Given the description of an element on the screen output the (x, y) to click on. 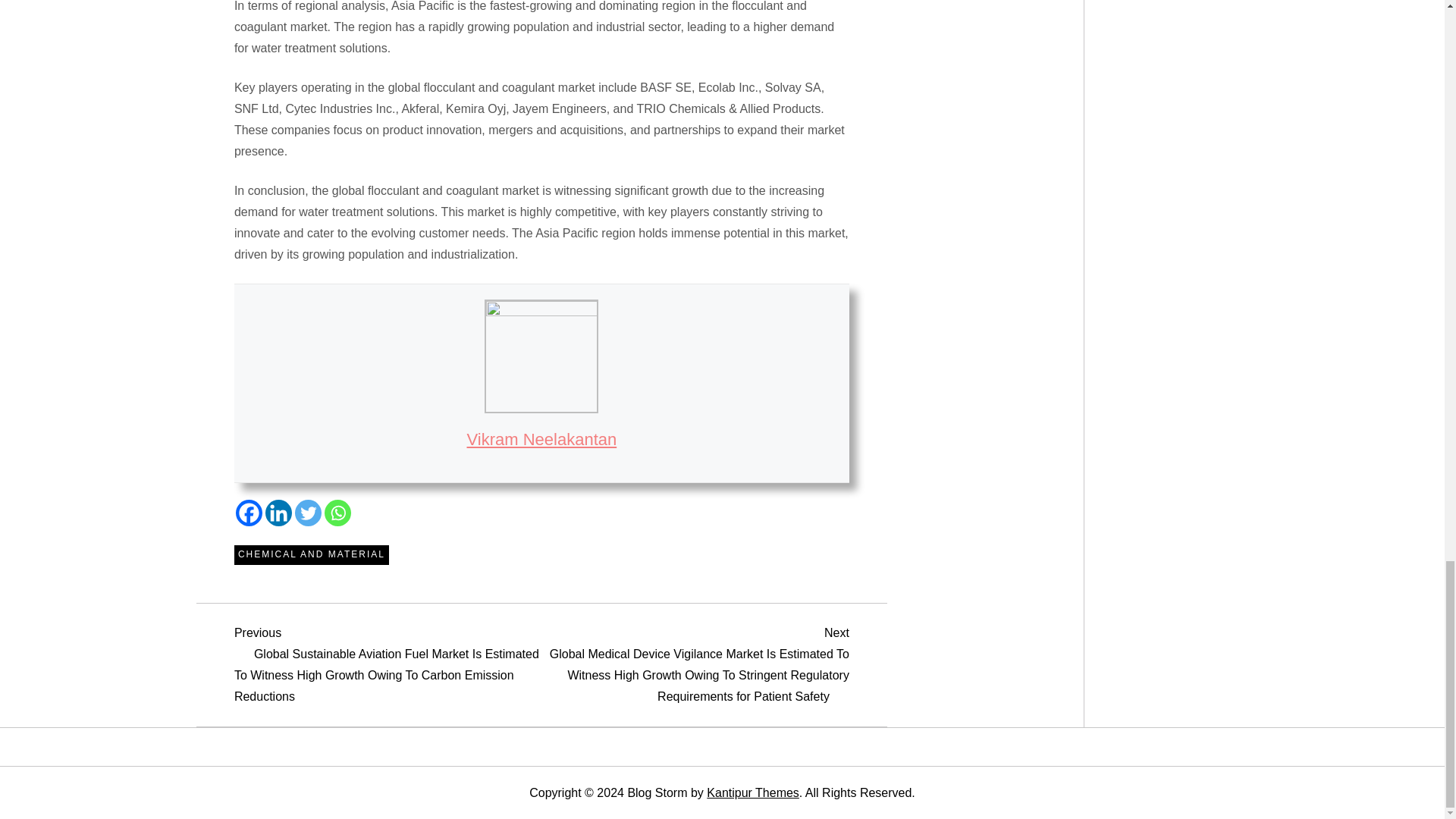
CHEMICAL AND MATERIAL (311, 555)
Kantipur Themes (752, 792)
Vikram Neelakantan (542, 438)
Whatsapp (337, 512)
Twitter (308, 512)
Linkedin (278, 512)
Facebook (248, 512)
